Given the description of an element on the screen output the (x, y) to click on. 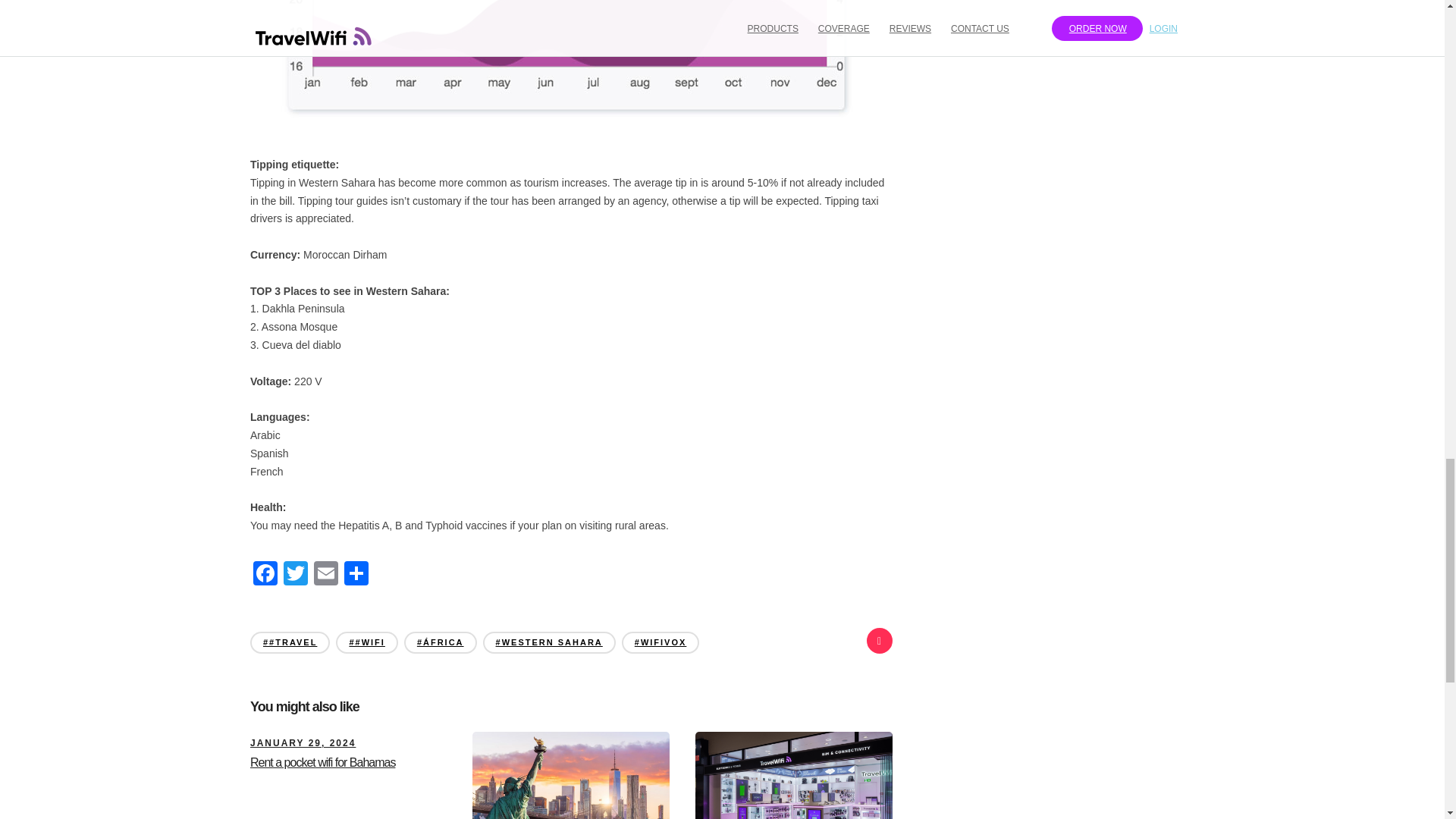
JANUARY 29, 2024 (302, 742)
Rent a pocket wifi for Bahamas (322, 762)
Rent a pocket wifi for Bahamas (302, 742)
Share (355, 574)
Twitter (296, 574)
Email (325, 574)
Email (325, 574)
Rent a pocket wifi for Bahamas (322, 762)
Facebook (265, 574)
Facebook (265, 574)
Twitter (296, 574)
